Given the description of an element on the screen output the (x, y) to click on. 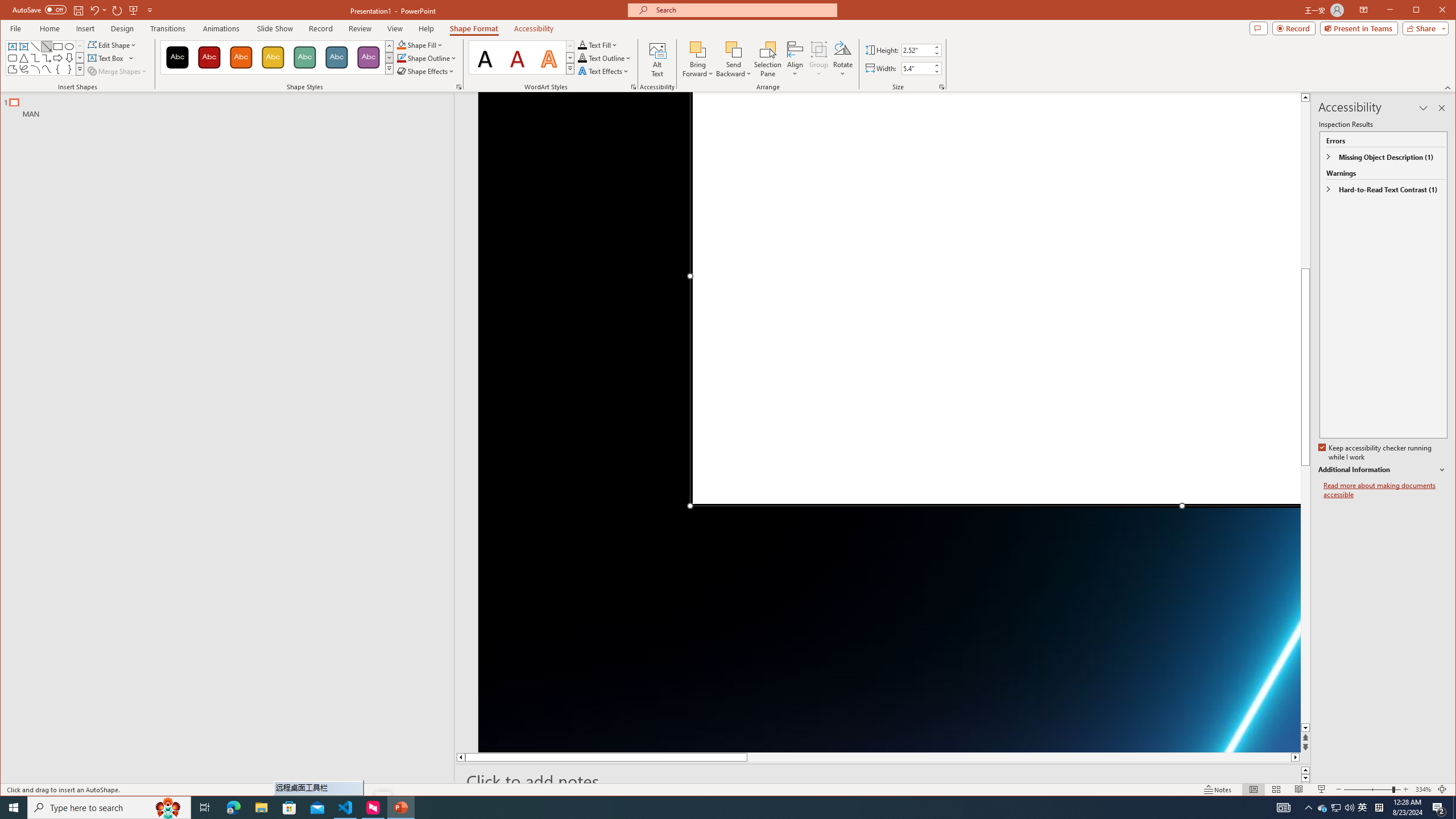
Outline (231, 104)
Shape Fill (419, 44)
Colored Fill - Purple, Accent 6 (368, 57)
Neon laser lights aligned to form a triangle (889, 421)
Read more about making documents accessible (1385, 489)
Shape Fill Orange, Accent 2 (400, 44)
Line (34, 46)
